Given the description of an element on the screen output the (x, y) to click on. 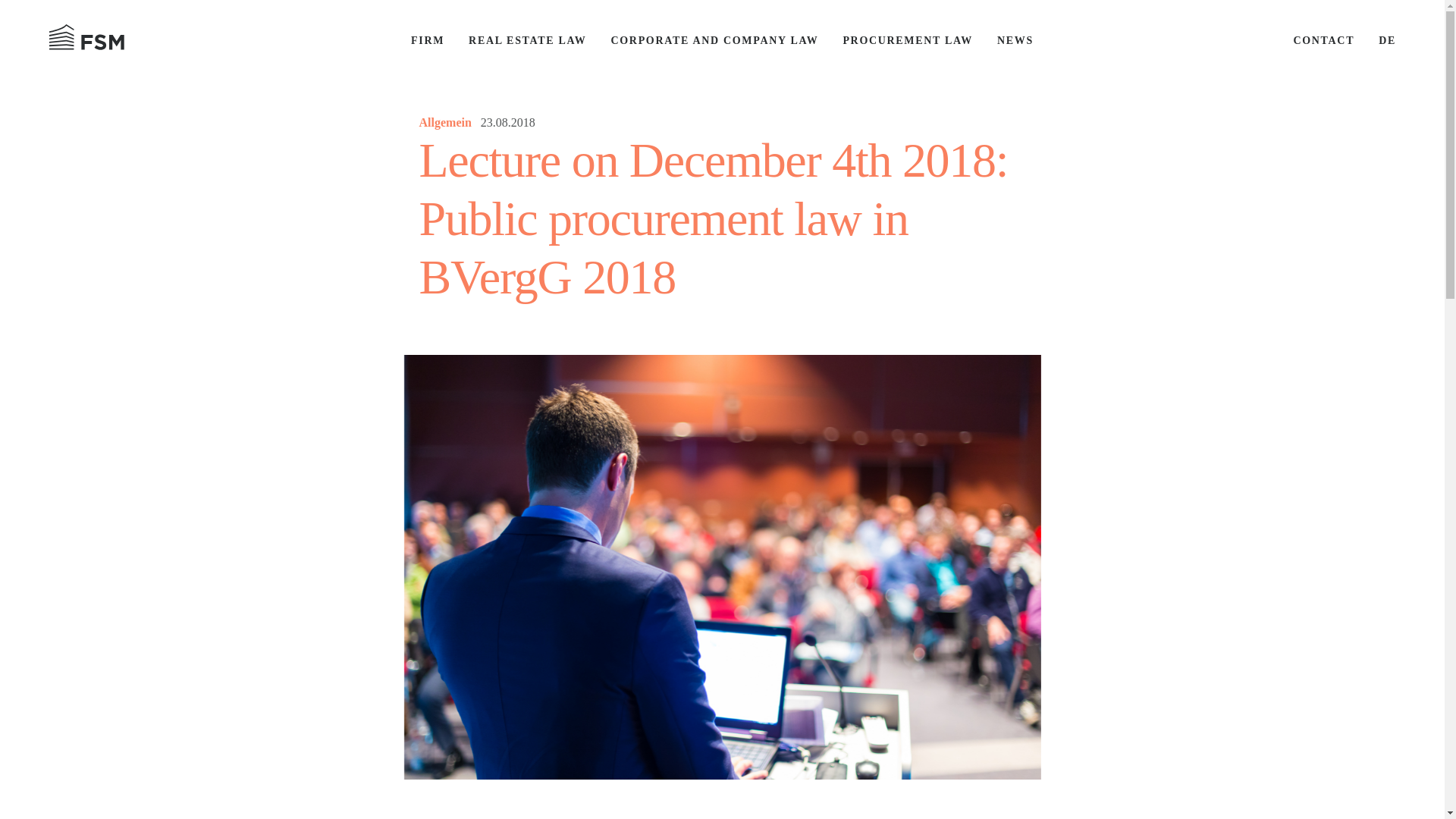
DE (1387, 40)
REAL ESTATE LAW (527, 40)
Zur Startseite (229, 39)
NEWS (1015, 40)
Deutsch (1387, 40)
CONTACT (1323, 40)
CORPORATE AND COMPANY LAW (714, 40)
PROCUREMENT LAW (907, 40)
FIRM (427, 40)
